Given the description of an element on the screen output the (x, y) to click on. 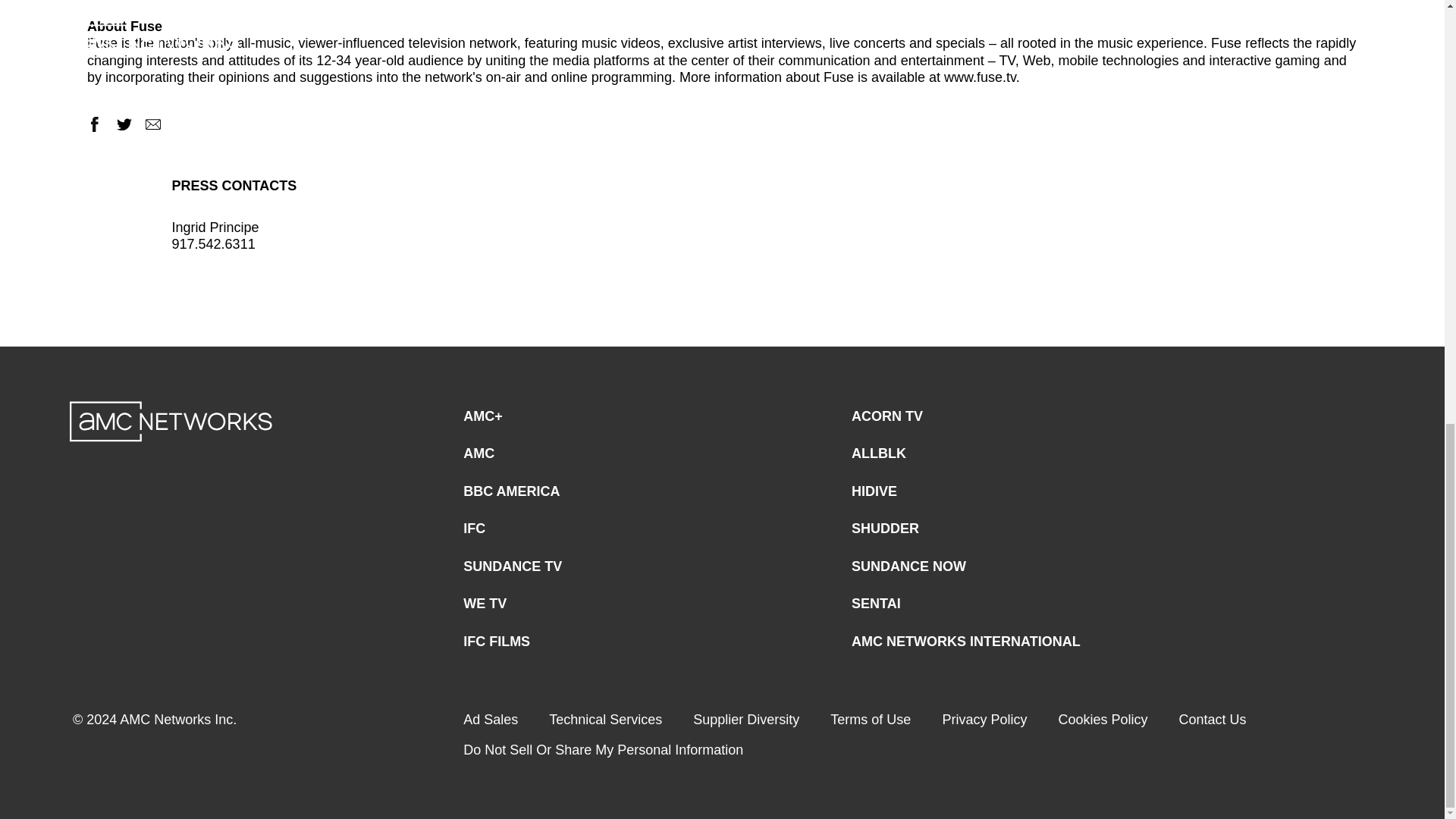
SUNDANCE TV (512, 566)
AMC Networks (170, 421)
ALLBLK (878, 453)
BBC AMERICA (511, 490)
WE TV (484, 603)
IFC FILMS (496, 641)
AMC (479, 453)
ACORN TV (887, 416)
www.fuse.tv (979, 77)
